Given the description of an element on the screen output the (x, y) to click on. 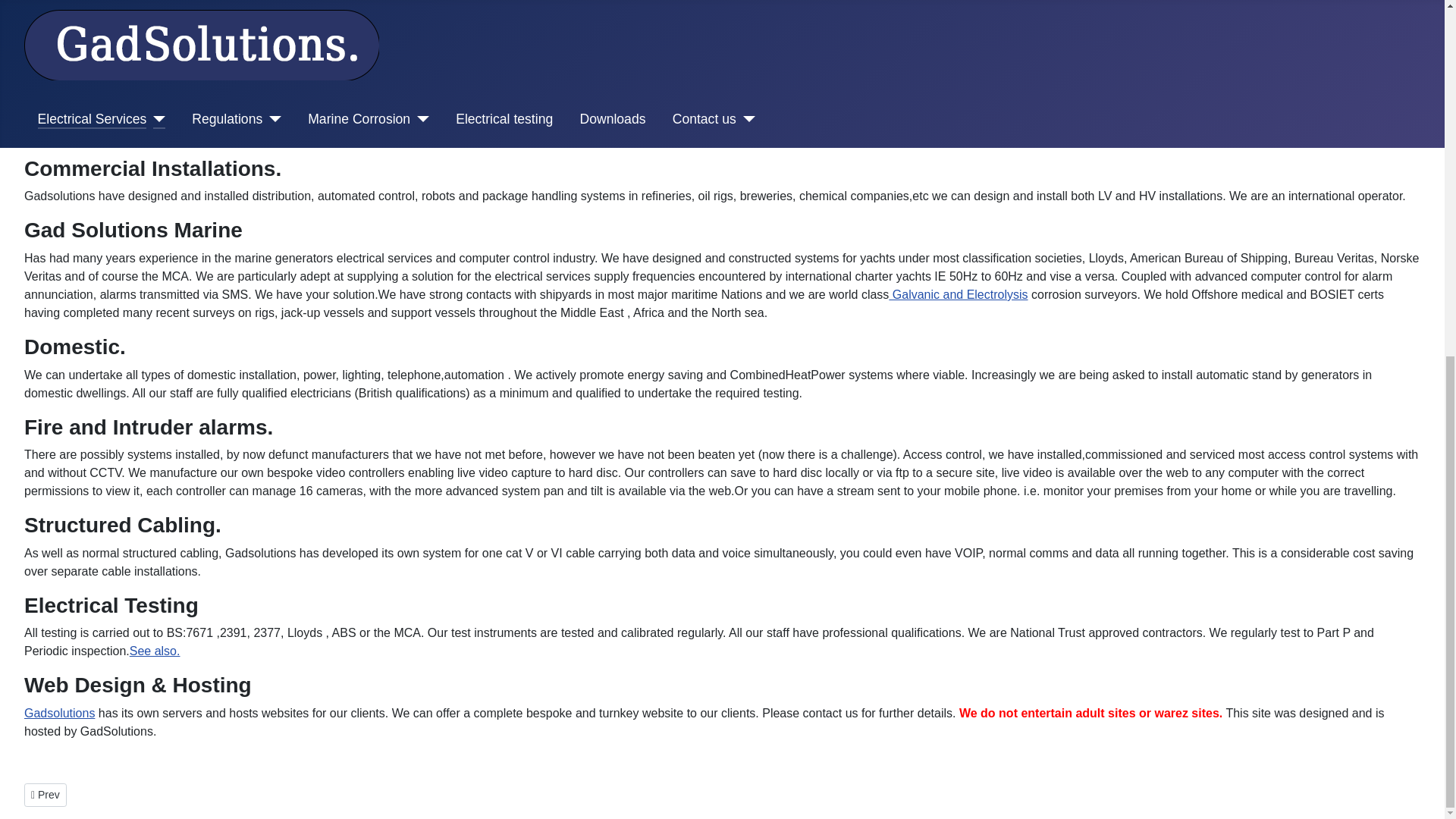
See also. (154, 650)
web design and hosting with style. (59, 712)
Electrical contractors in Sussex (400, 67)
Electrical safety testing to BS 2391 and 2377 (154, 650)
Galvanic corrosion in vessels (957, 294)
Gadsolutions (59, 712)
Galvanic and Electrolysis (45, 794)
Fairway Electrical Contractors (957, 294)
